Given the description of an element on the screen output the (x, y) to click on. 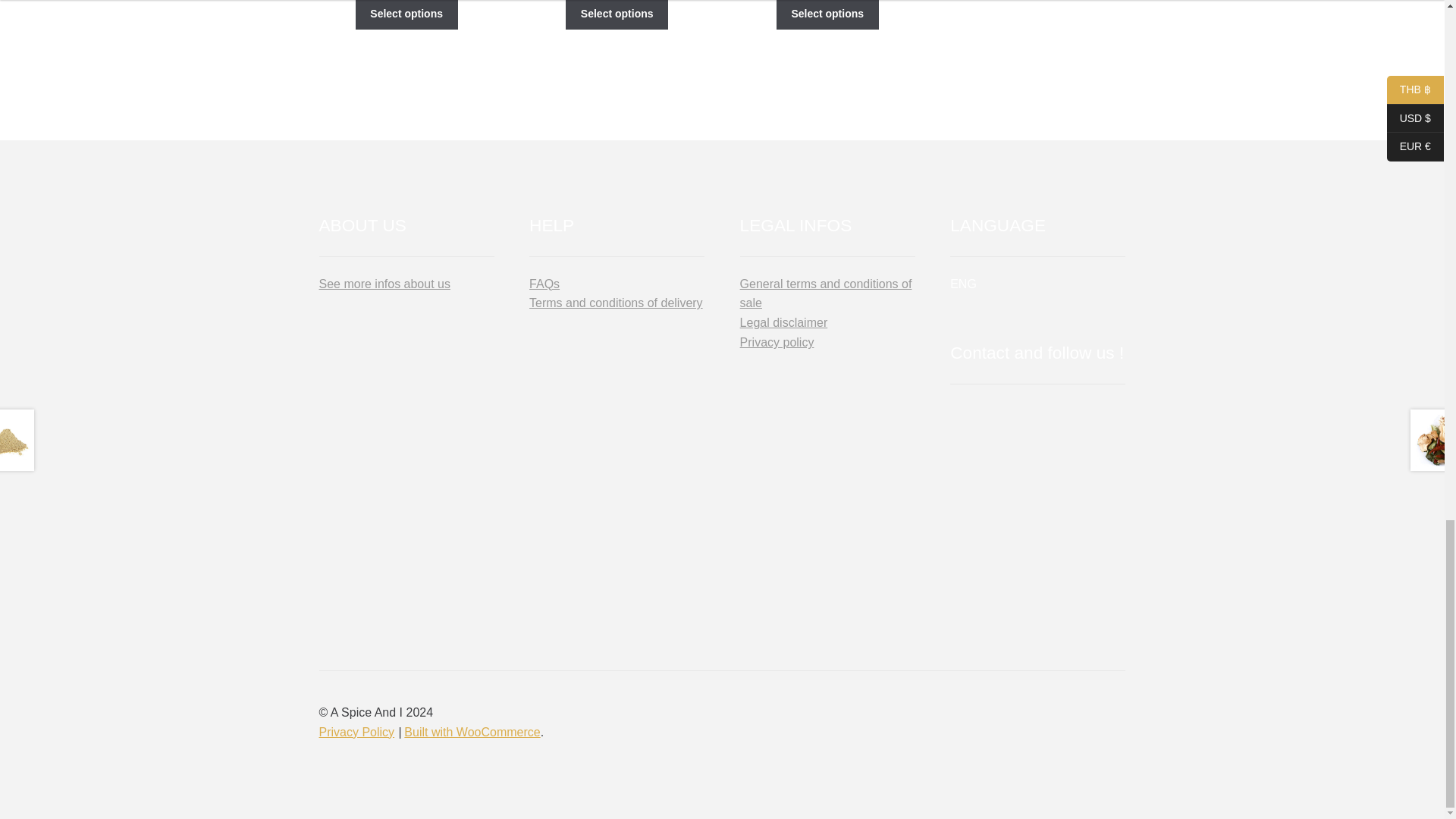
Contact and follow us ! (983, 439)
WooCommerce - The Best eCommerce Platform for WordPress (472, 731)
